Given the description of an element on the screen output the (x, y) to click on. 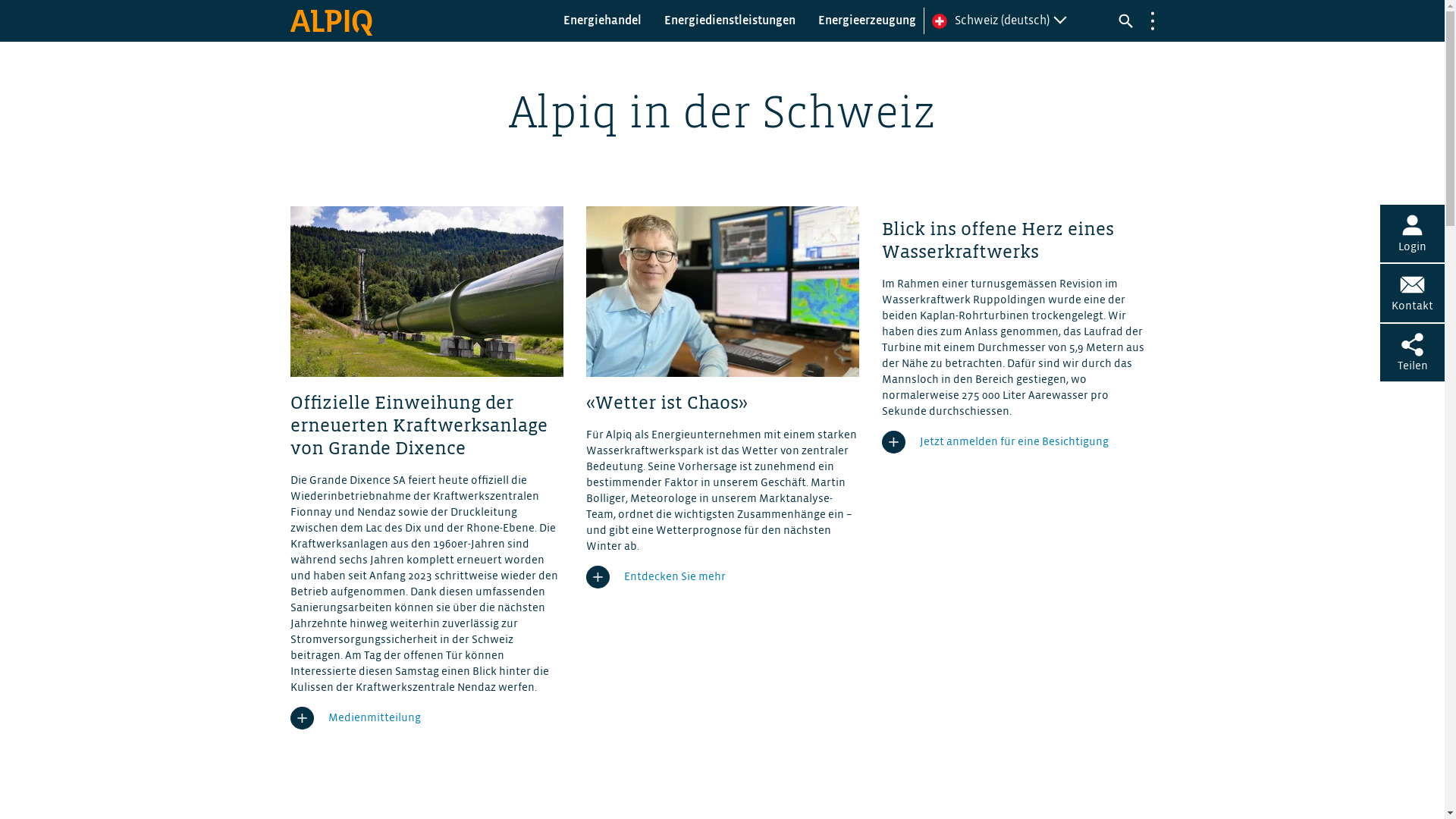
Medienmitteilung Element type: text (354, 717)
Energiehandel Element type: text (601, 20)
Energieerzeugung Element type: text (866, 20)
Teilen Element type: text (1412, 352)
Login Element type: text (1412, 233)
Schweiz (deutsch) Element type: text (1018, 20)
Entdecken Sie mehr Element type: text (654, 576)
Kontakt Element type: text (1412, 292)
Energiedienstleistungen Element type: text (729, 20)
